Given the description of an element on the screen output the (x, y) to click on. 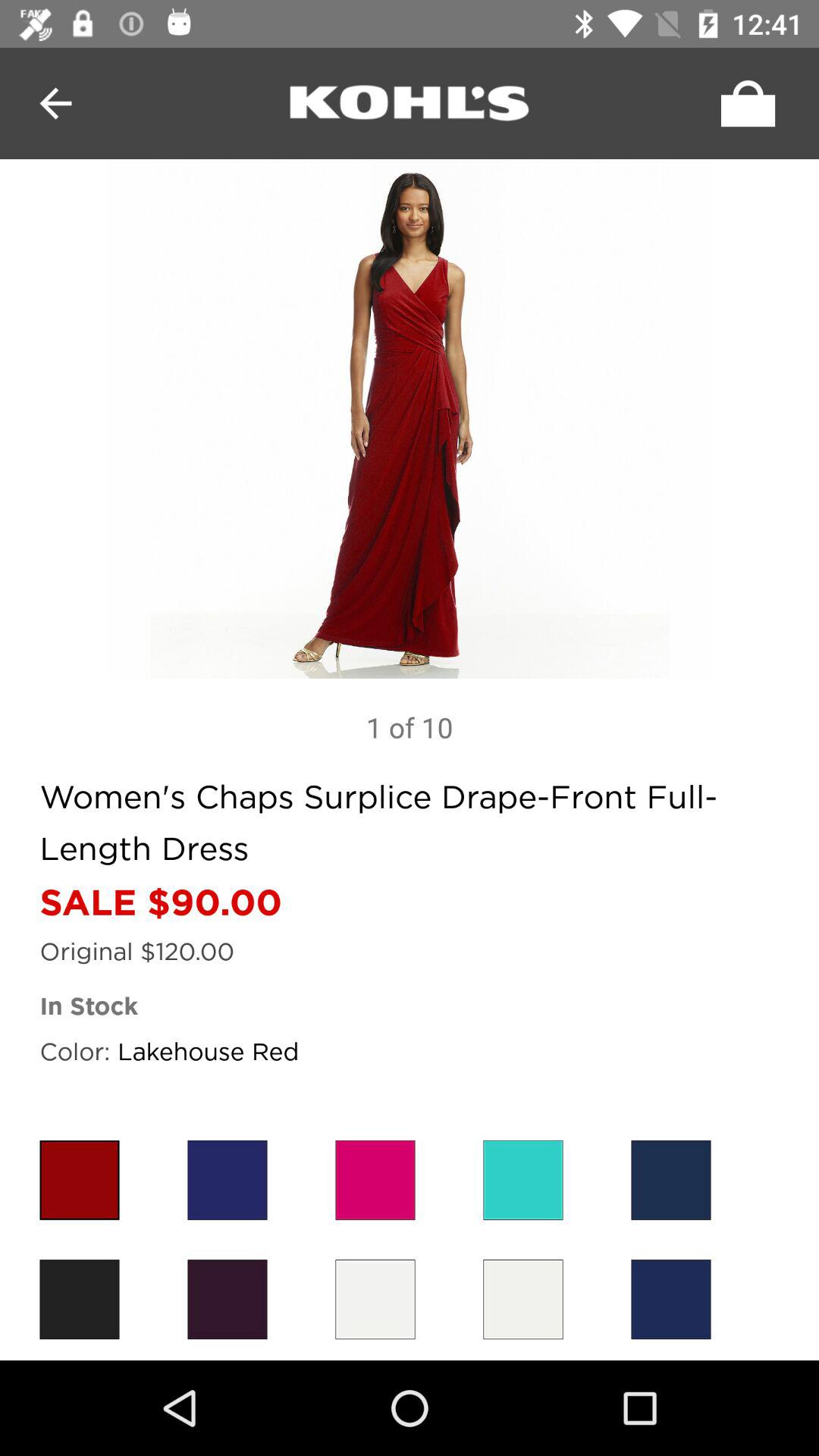
go to next image (409, 418)
